Given the description of an element on the screen output the (x, y) to click on. 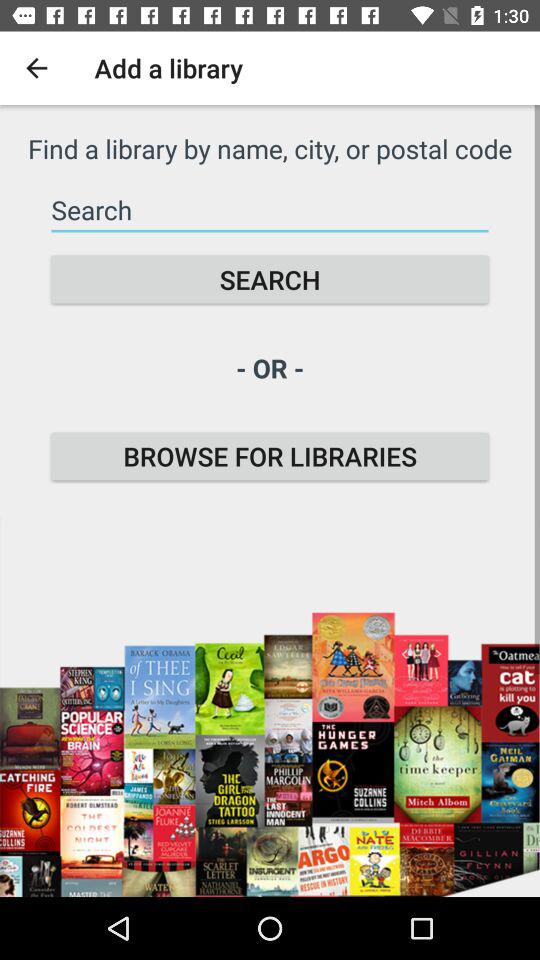
choose the item above the find a library item (36, 68)
